Given the description of an element on the screen output the (x, y) to click on. 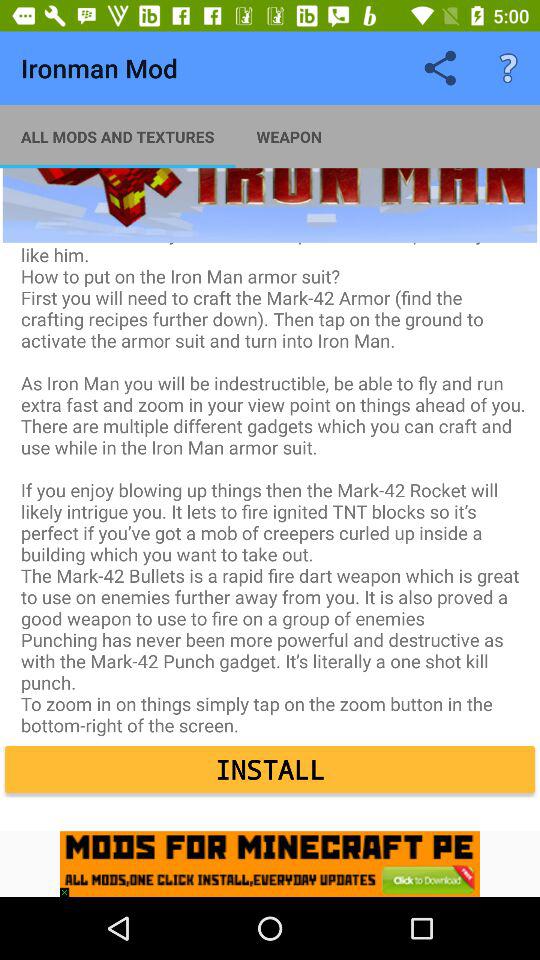
select the icon next to the all mods and app (289, 136)
